Given the description of an element on the screen output the (x, y) to click on. 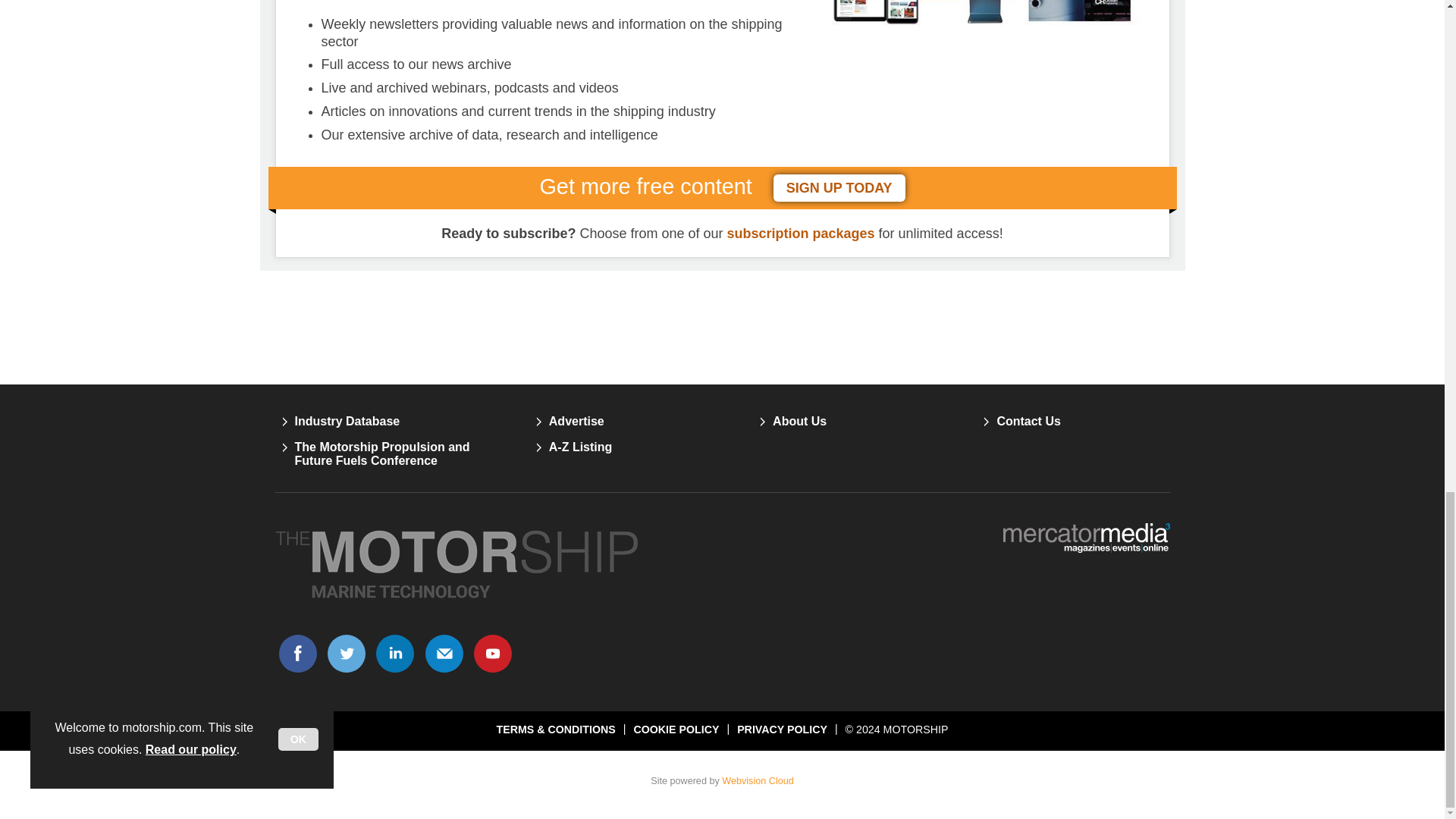
Connect with us on Facebook (297, 653)
Email us (444, 653)
Connect with us on Linked In (394, 653)
Connect with us on Youtube (492, 653)
Connect with us on Twitter (346, 653)
